Given the description of an element on the screen output the (x, y) to click on. 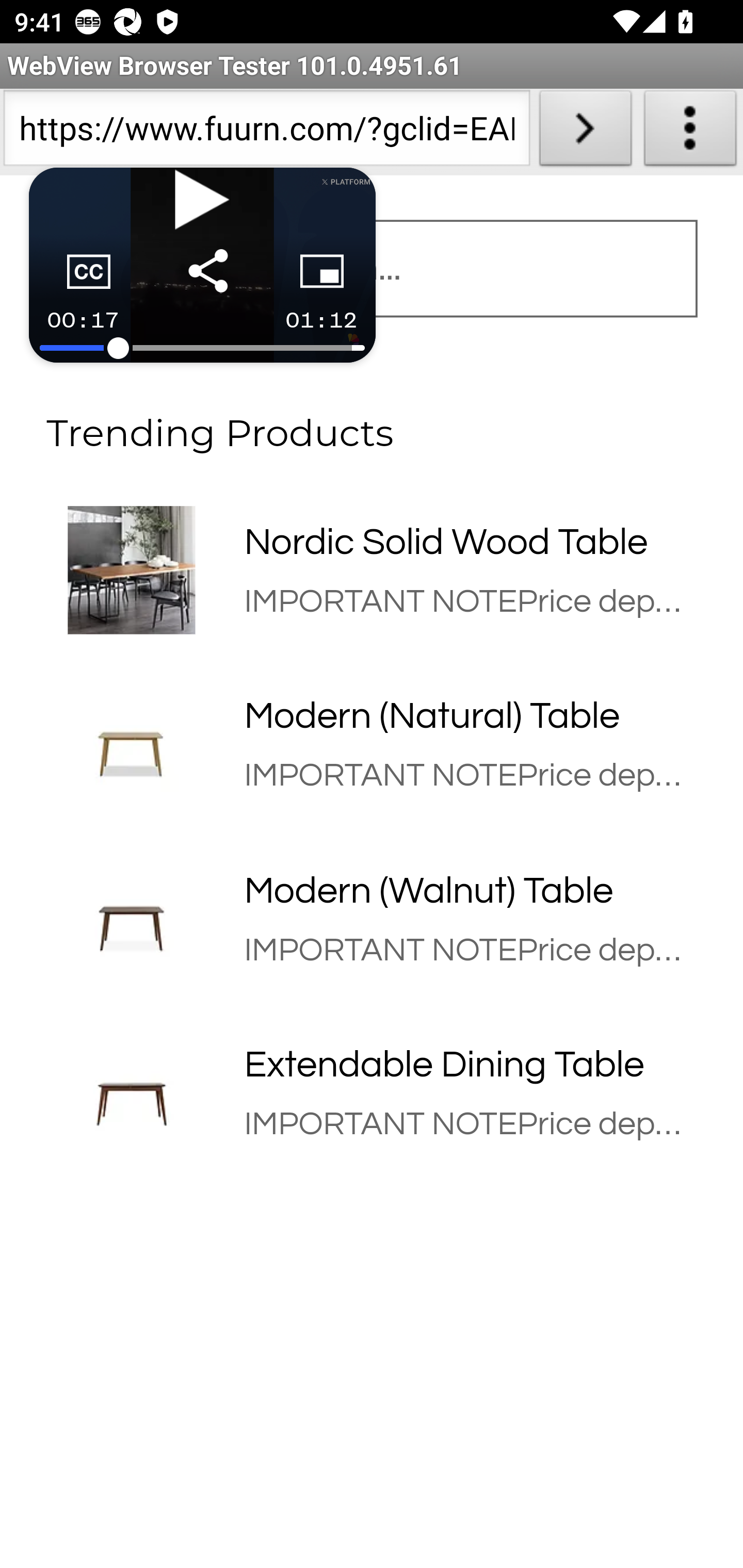
Load URL (585, 132)
About WebView (690, 132)
Trending Products (371, 422)
